Given the description of an element on the screen output the (x, y) to click on. 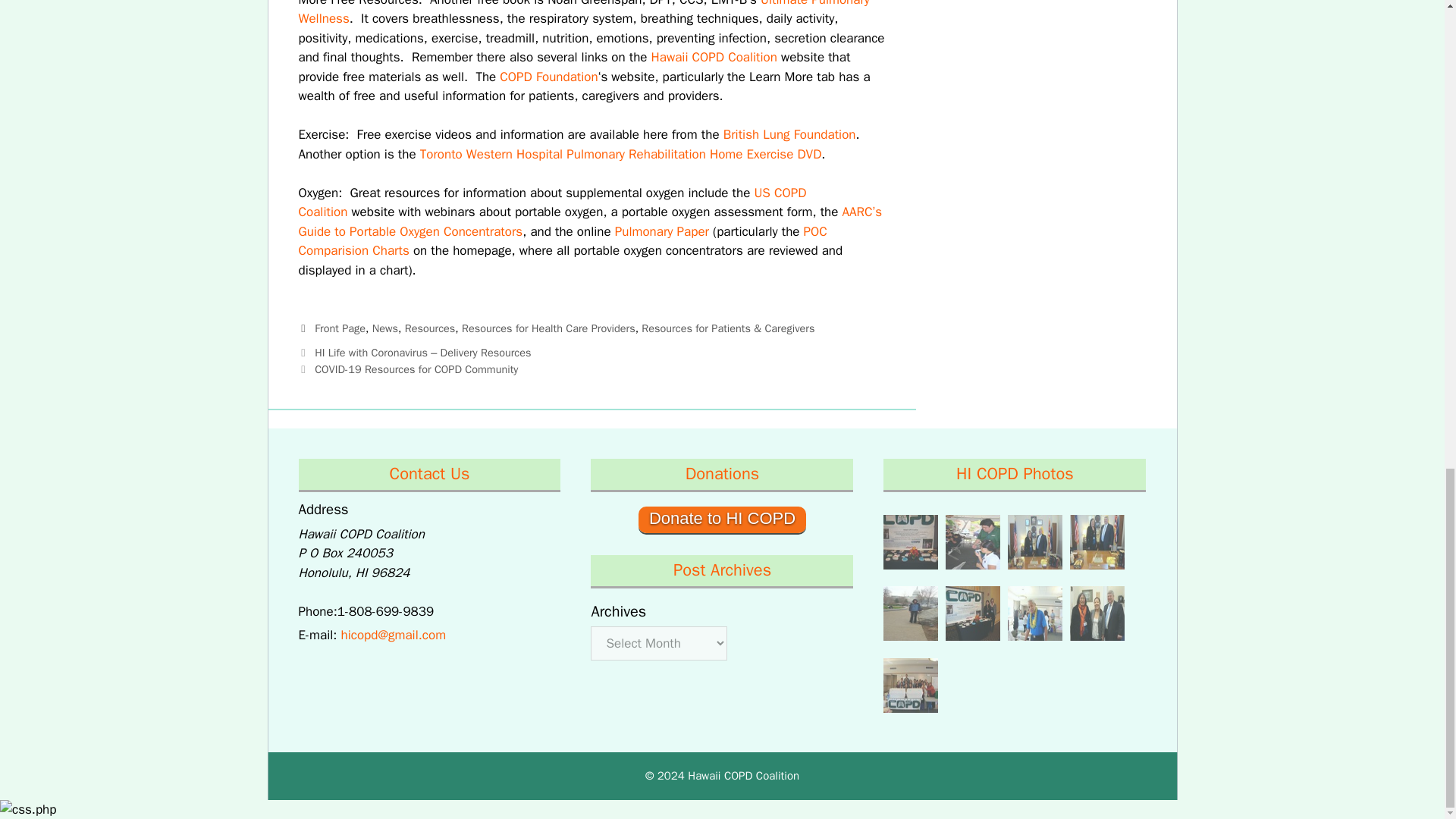
hawaii-copd-photo-480 (910, 545)
hawaii-copd-photo-479 (1034, 545)
hawaii-copd-photo-481 (972, 545)
hawaii-copd-photo-478 (1097, 545)
